Given the description of an element on the screen output the (x, y) to click on. 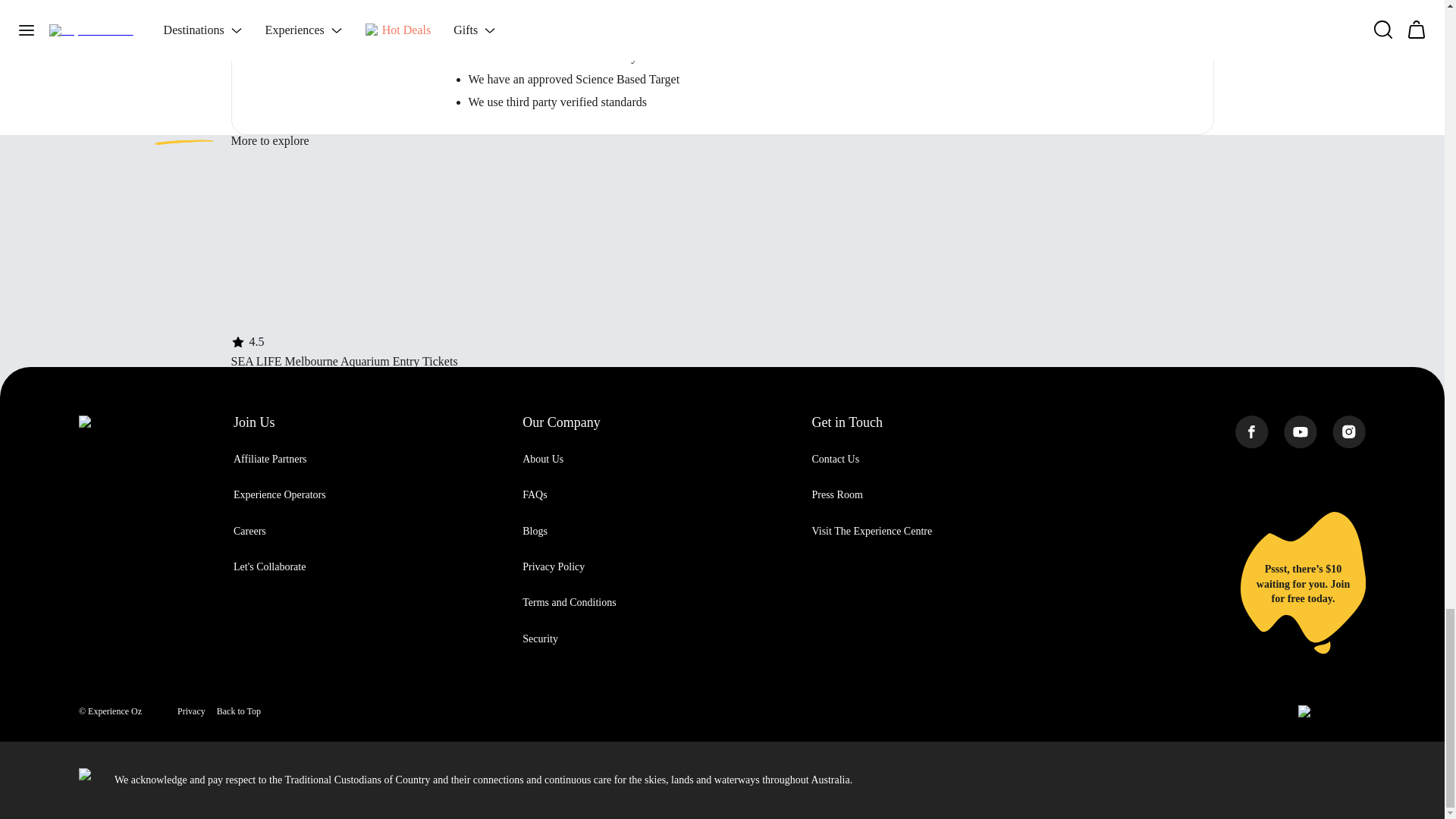
Blogs (534, 531)
Terms and Conditions (568, 602)
Affiliate Partners (269, 459)
Experience Operators (279, 494)
FAQs (534, 494)
Privacy Policy (553, 566)
Let's Collaborate (268, 566)
About Us (542, 459)
Careers (249, 531)
Security (539, 638)
